Given the description of an element on the screen output the (x, y) to click on. 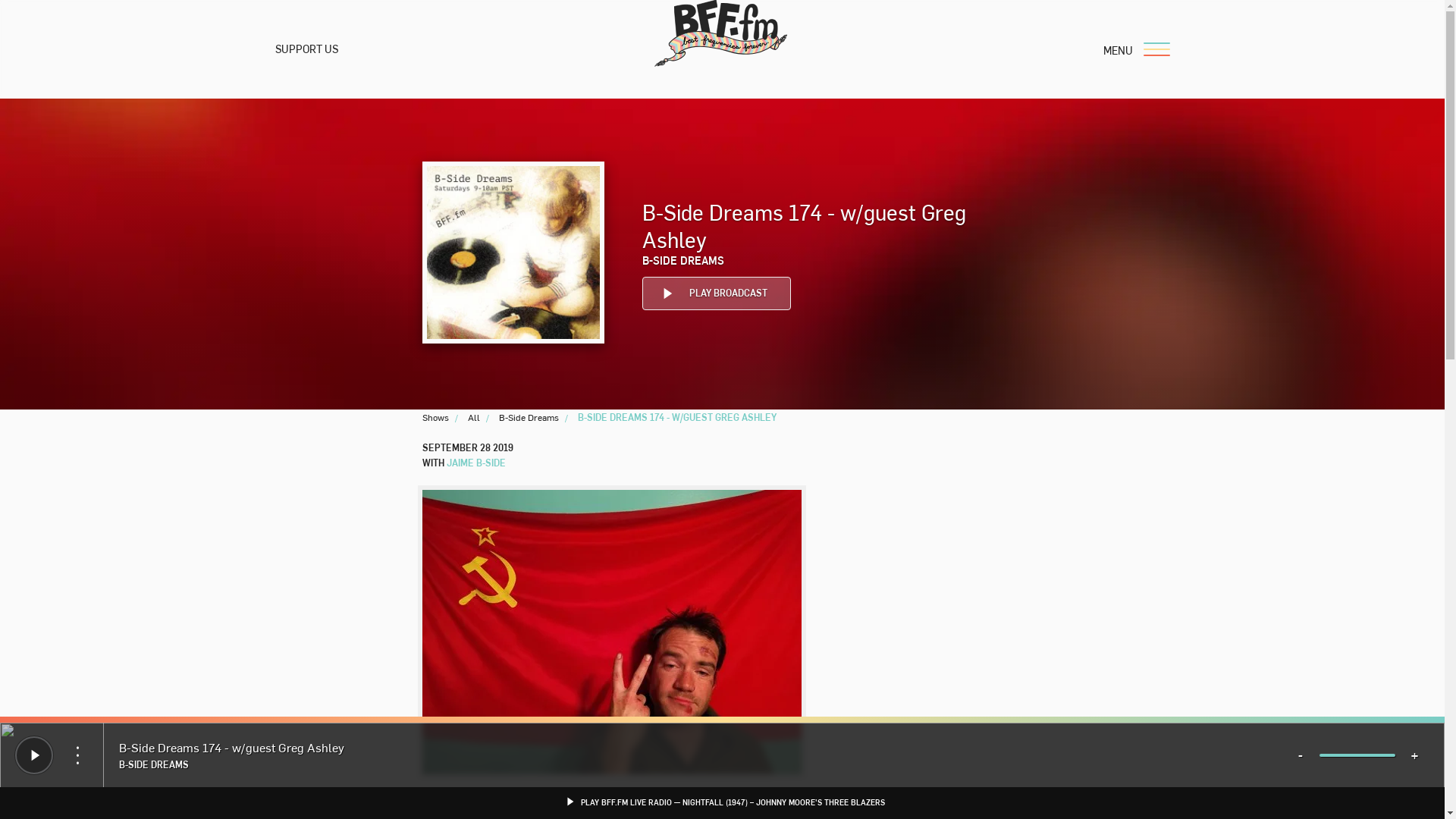
Search (873, 524)
MENU (1130, 49)
B-SIDE DREAMS (682, 260)
B-Side Dreams (529, 417)
SUPPORT US (306, 48)
Shows (435, 417)
JAIME B-SIDE (716, 293)
Donate to BFF.FM to help support the station (475, 462)
